Given the description of an element on the screen output the (x, y) to click on. 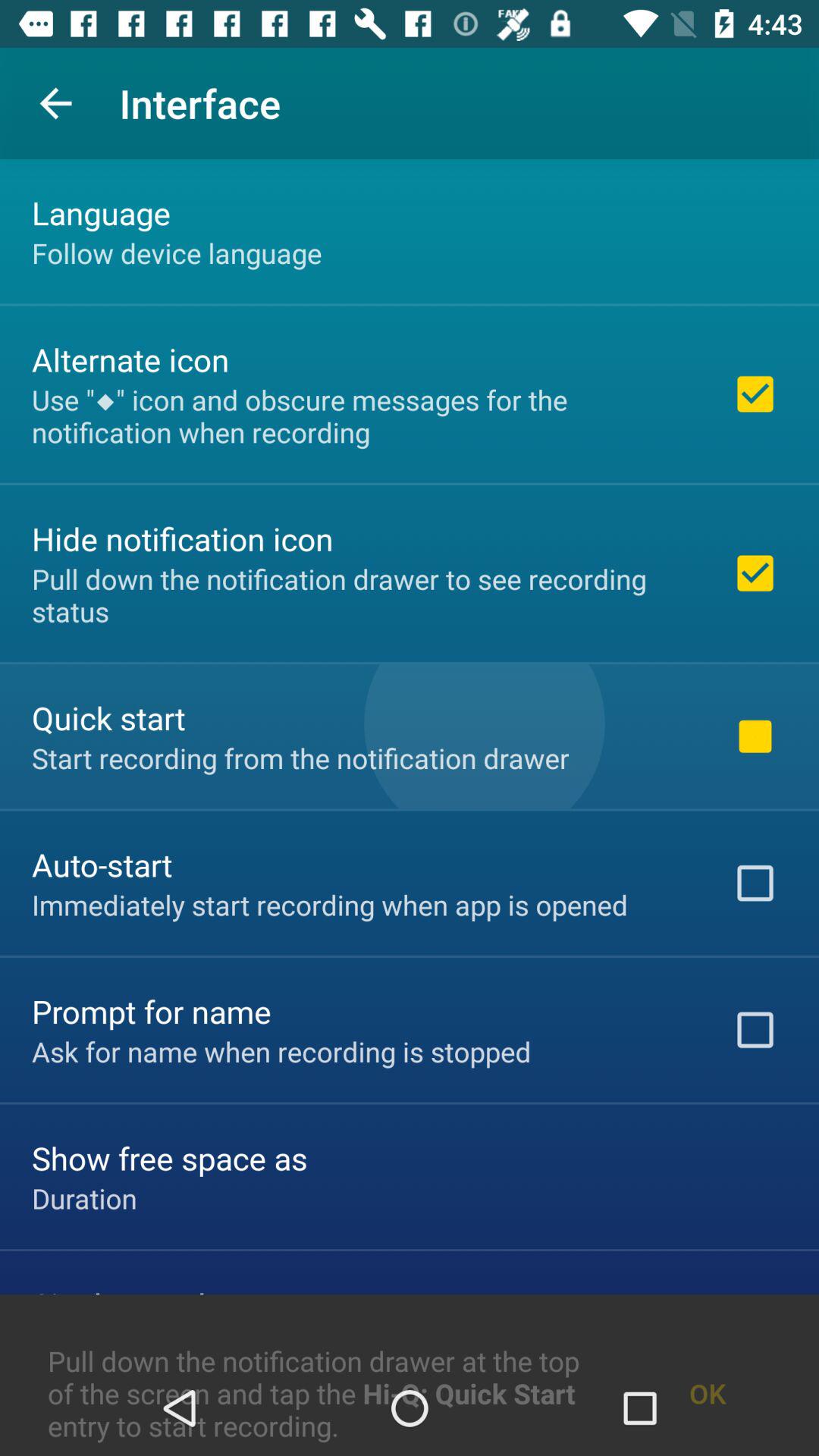
turn off the use icon and icon (361, 416)
